Given the description of an element on the screen output the (x, y) to click on. 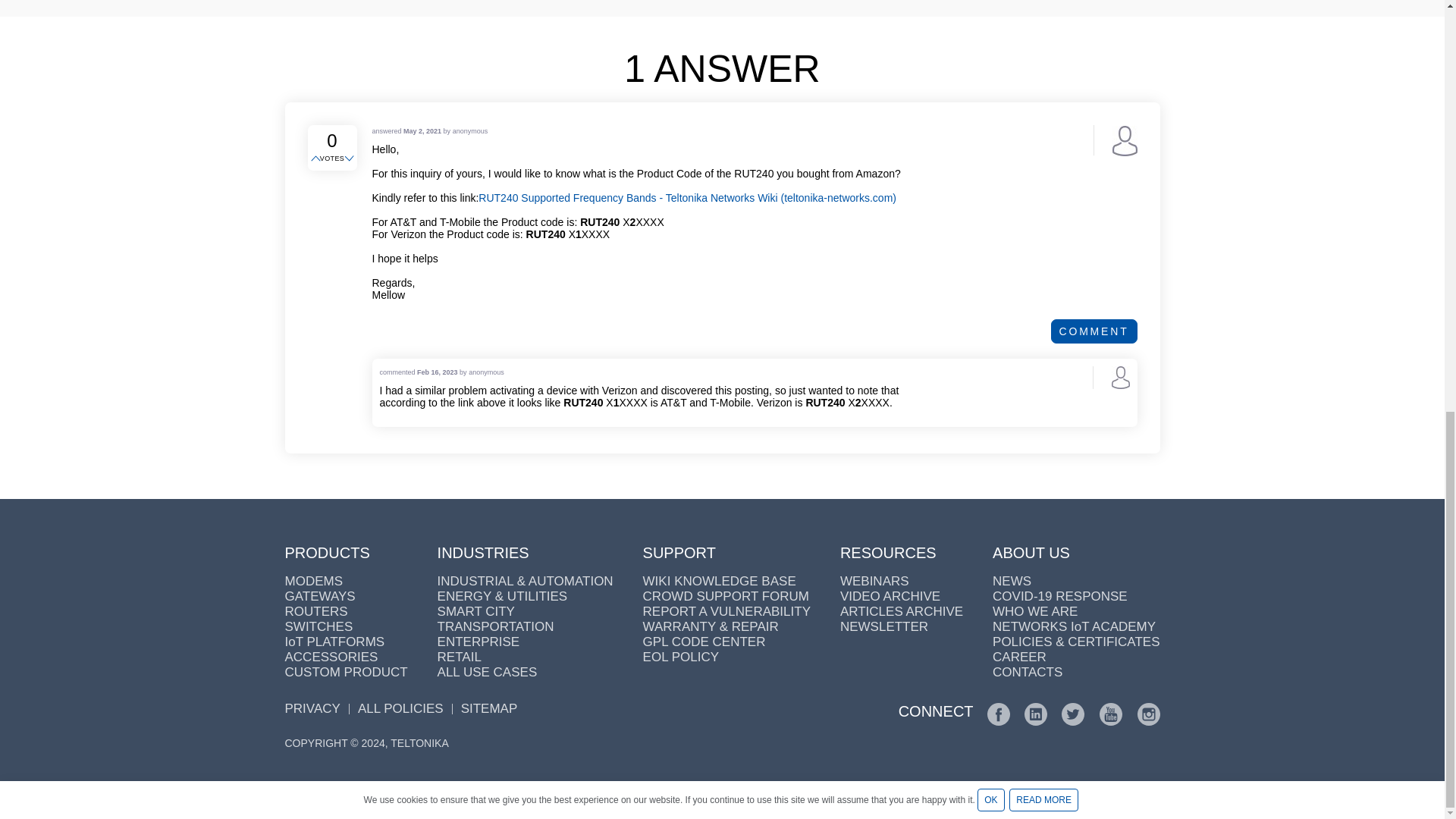
Add a comment on this answer (1094, 331)
comment (1094, 331)
Click to vote down (349, 158)
Click to vote up (317, 158)
